Given the description of an element on the screen output the (x, y) to click on. 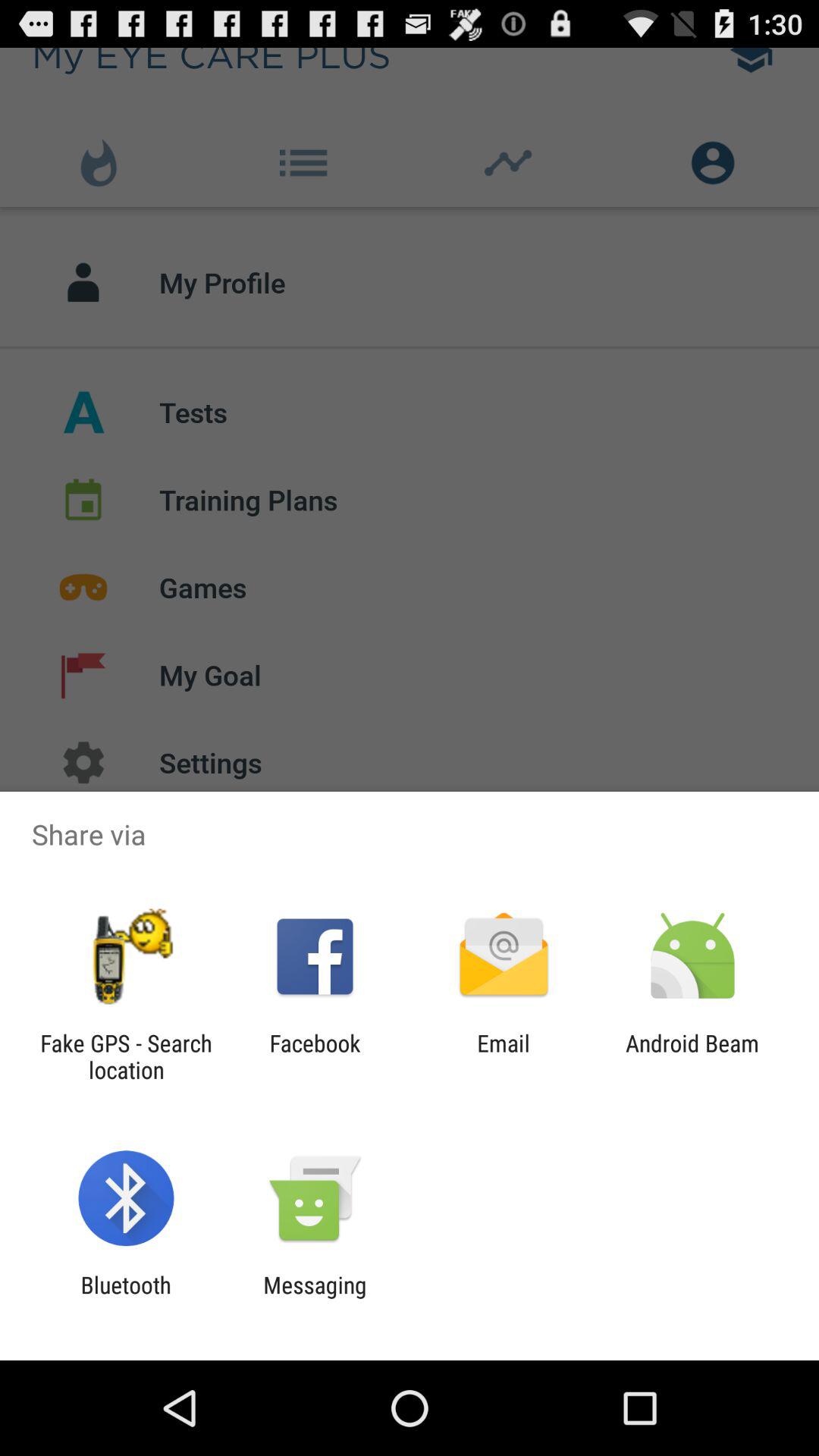
choose app next to the fake gps search icon (314, 1056)
